Given the description of an element on the screen output the (x, y) to click on. 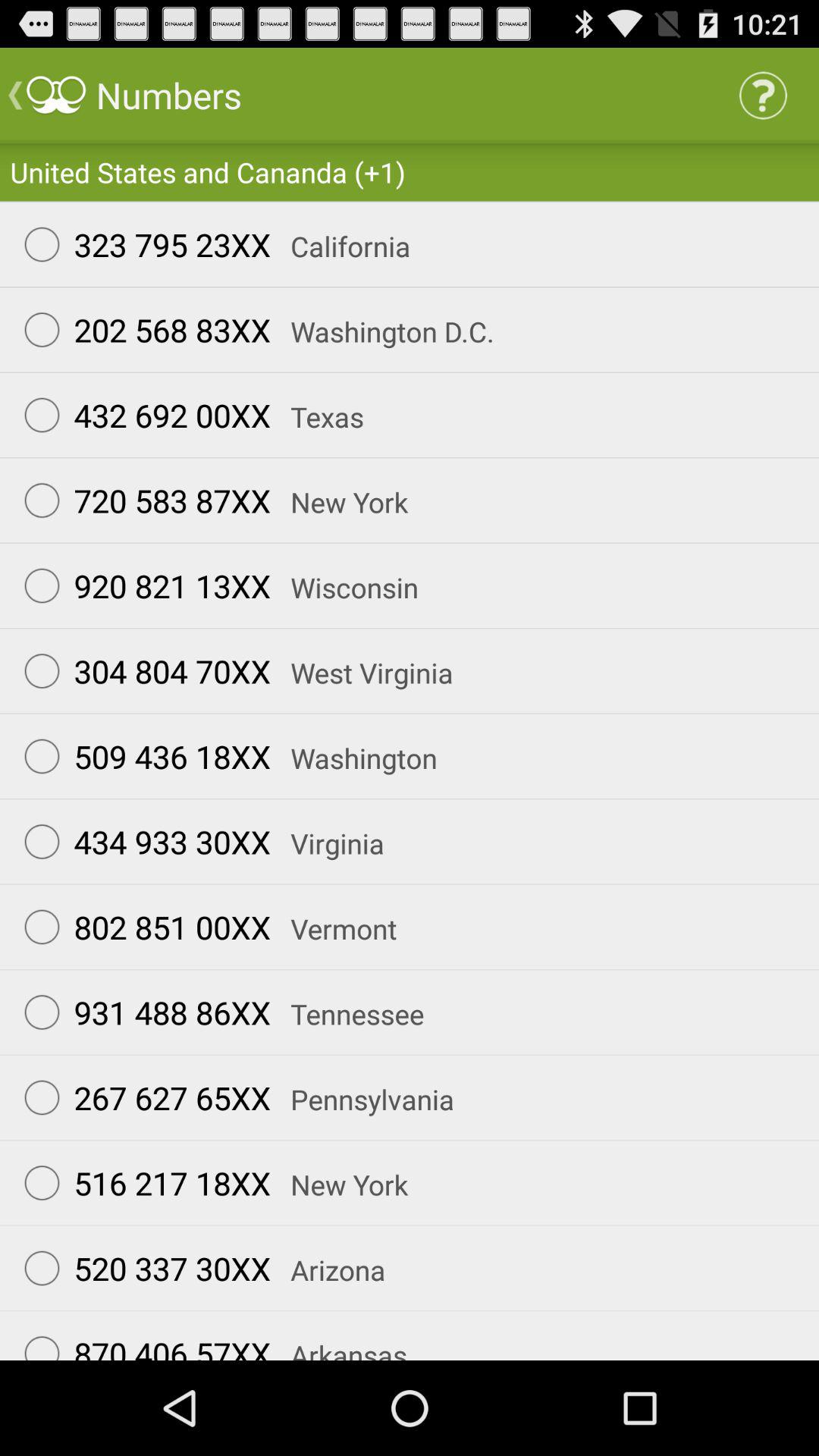
open icon next to the west virginia icon (140, 670)
